Given the description of an element on the screen output the (x, y) to click on. 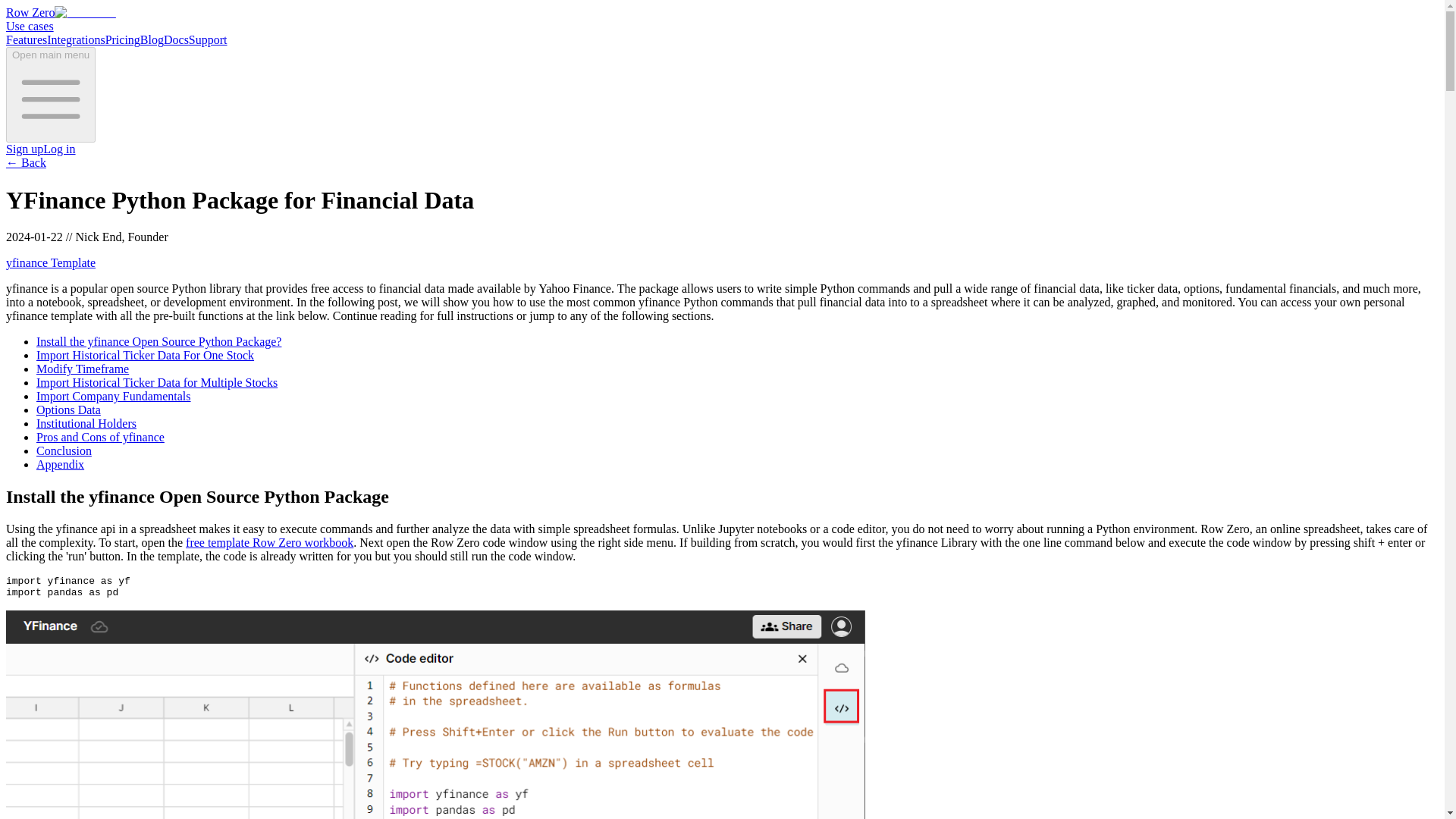
yfinance Template (50, 262)
free template Row Zero workbook (269, 542)
Institutional Holders (86, 422)
Modify Timeframe (82, 368)
Conclusion (63, 450)
Install the yfinance Open Source Python Package? (158, 341)
Support (208, 39)
Docs (176, 39)
Import Company Fundamentals (113, 395)
Import Historical Ticker Data for Multiple Stocks (157, 382)
